Given the description of an element on the screen output the (x, y) to click on. 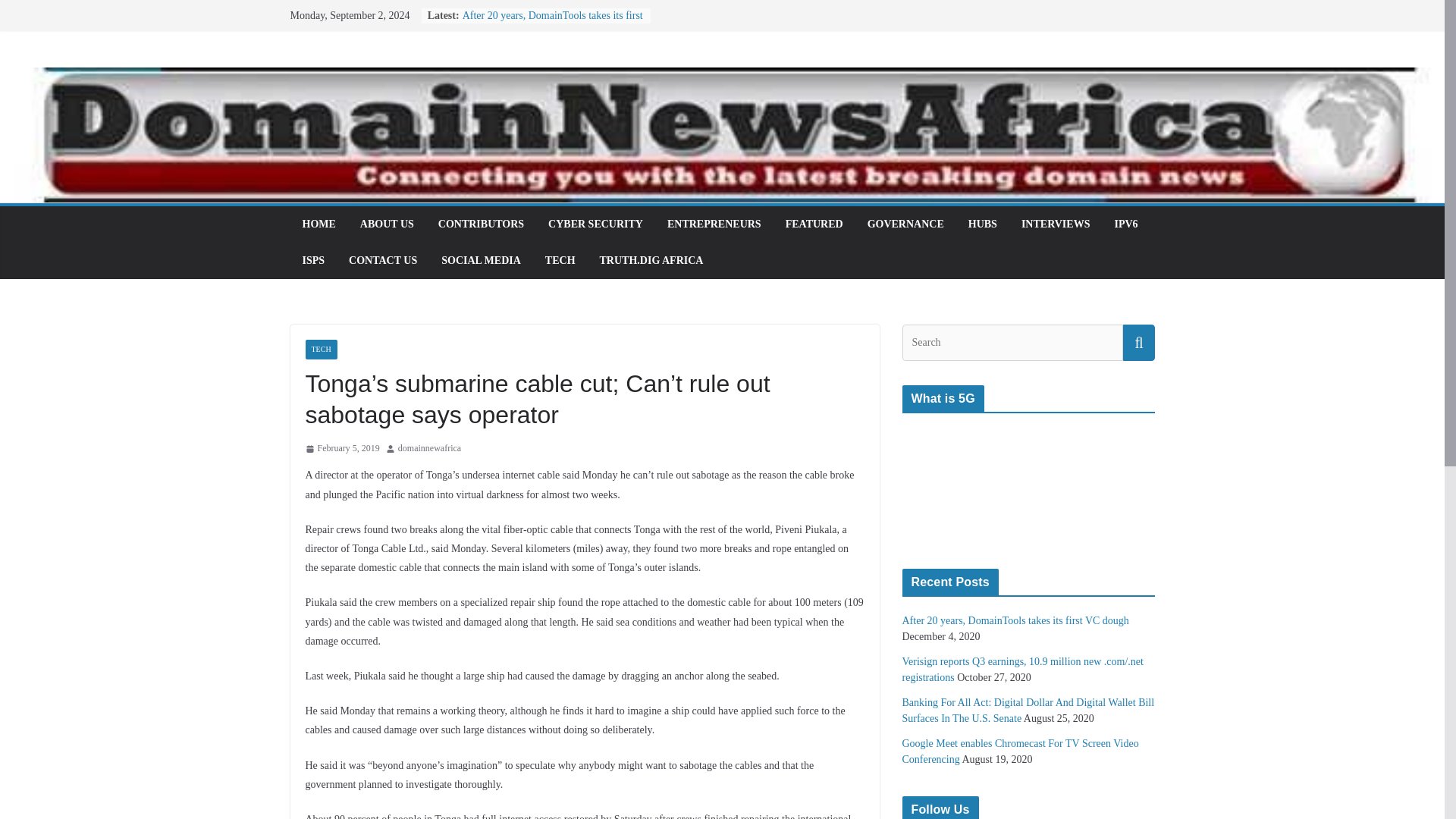
TECH (559, 260)
CYBER SECURITY (595, 224)
February 5, 2019 (341, 448)
CONTRIBUTORS (481, 224)
TRUTH.DIG AFRICA (651, 260)
FEATURED (814, 224)
INTERVIEWS (1056, 224)
HUBS (982, 224)
domainnewafrica (429, 448)
IPV6 (1125, 224)
